Given the description of an element on the screen output the (x, y) to click on. 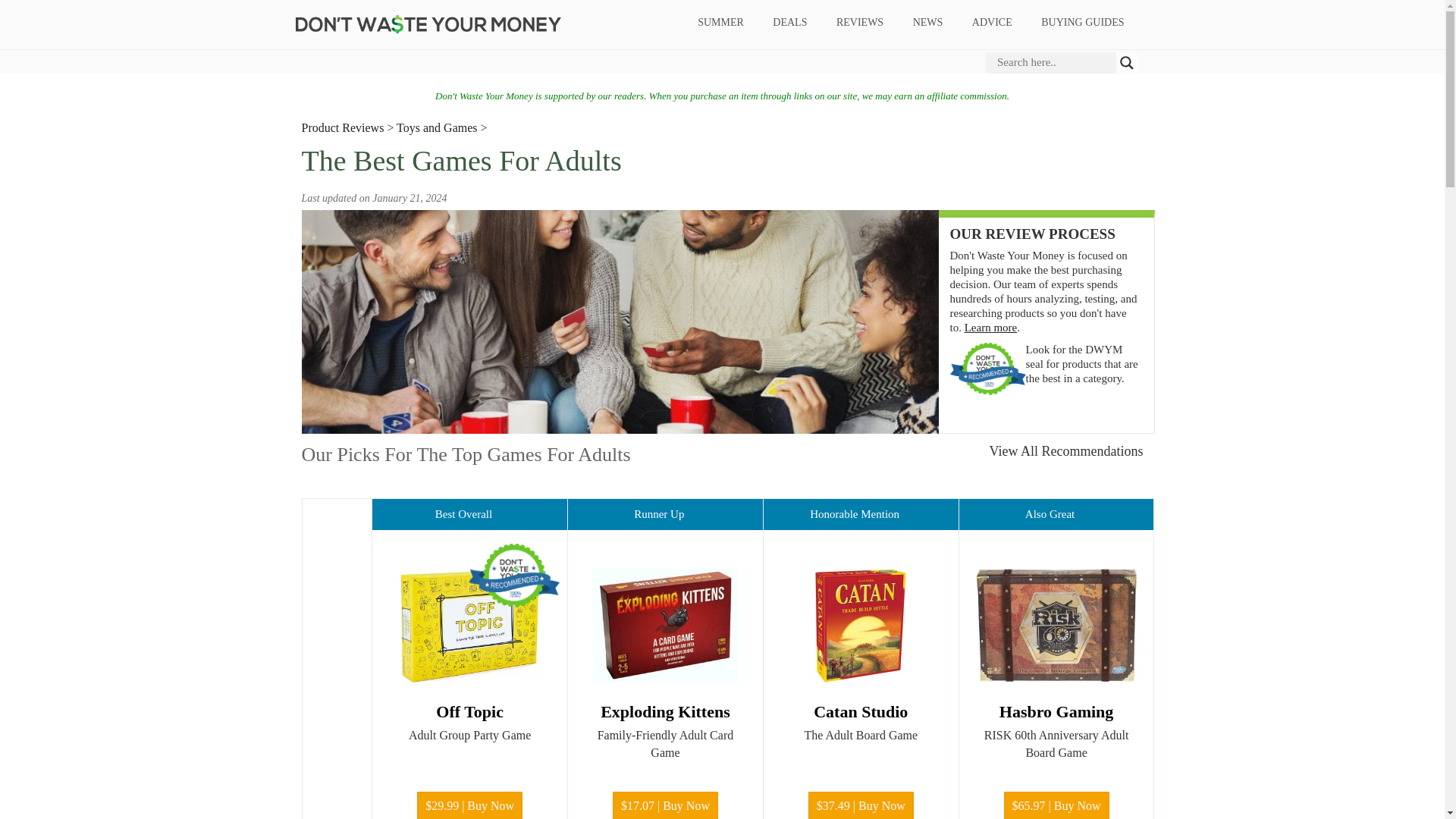
DEALS (790, 22)
REVIEWS (859, 22)
SUMMER (720, 22)
Product Reviews (342, 127)
ADVICE (991, 22)
Learn more (990, 327)
NEWS (927, 22)
BUYING GUIDES (1082, 22)
Toys and Games (436, 127)
